Given the description of an element on the screen output the (x, y) to click on. 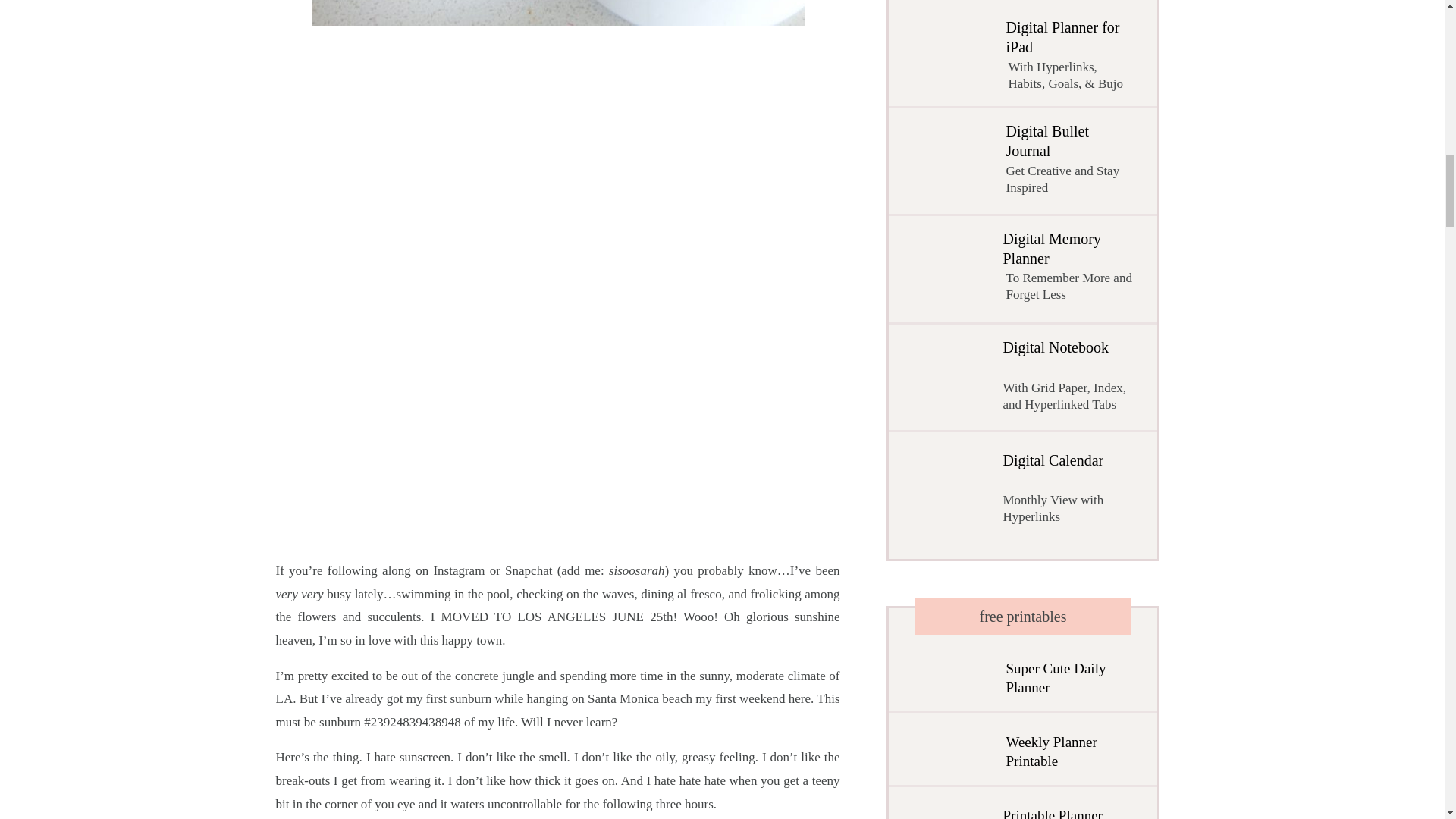
Digital Bullet Journal (1068, 165)
Digital Calendar (1062, 487)
Digital Planner for iPad  (1071, 58)
Printable Planner Stickers (1062, 812)
Digital Notebook (1063, 375)
Digital Memory Planner (1072, 269)
Weekly Planner Printable (1068, 751)
Super Cute Daily Planner (1064, 678)
